Given the description of an element on the screen output the (x, y) to click on. 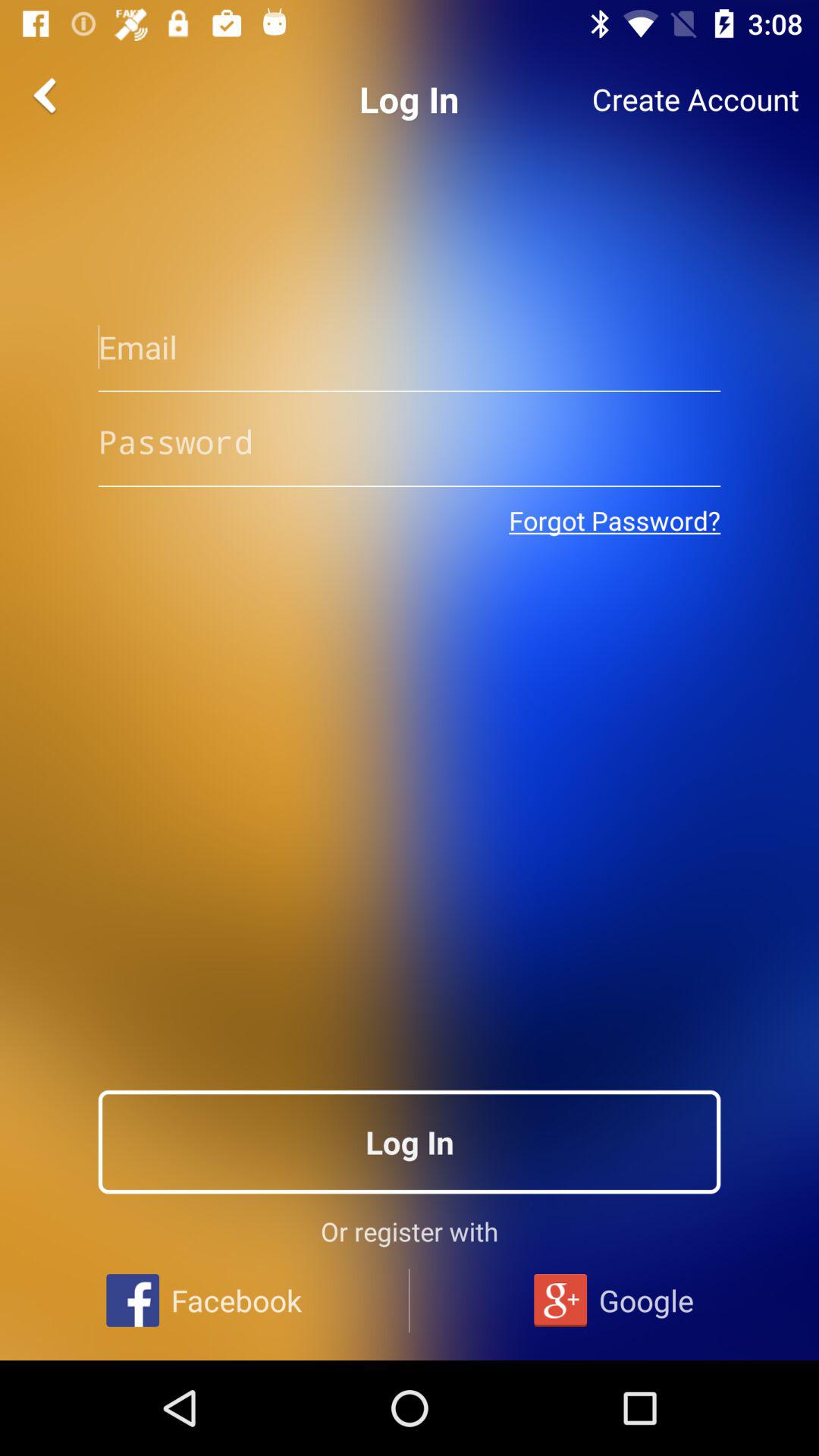
click icon on the right (614, 520)
